Given the description of an element on the screen output the (x, y) to click on. 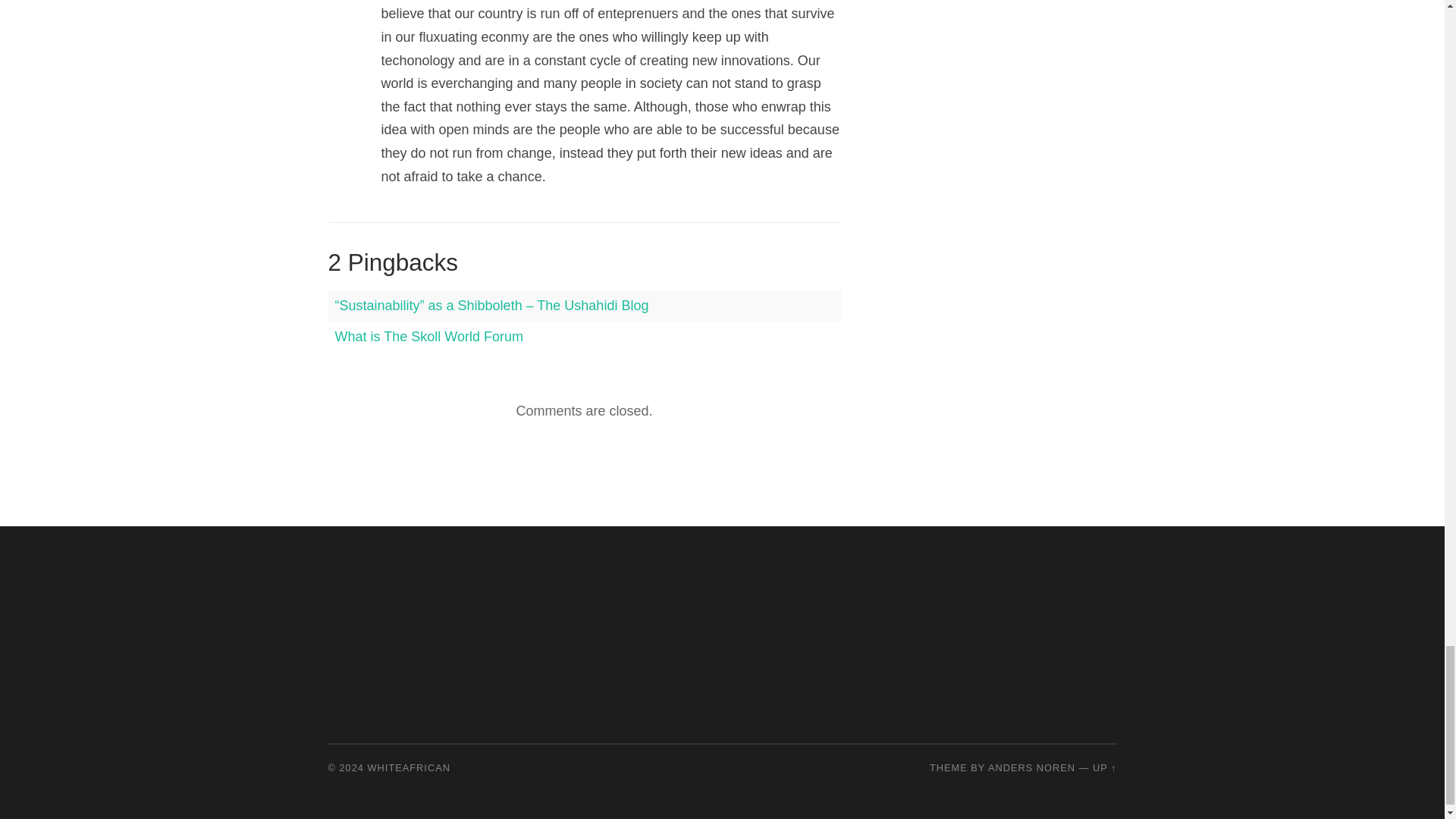
What is The Skoll World Forum (428, 336)
WhiteAfrican (408, 767)
ANDERS NOREN (1031, 767)
WHITEAFRICAN (408, 767)
To the top (1104, 767)
